Given the description of an element on the screen output the (x, y) to click on. 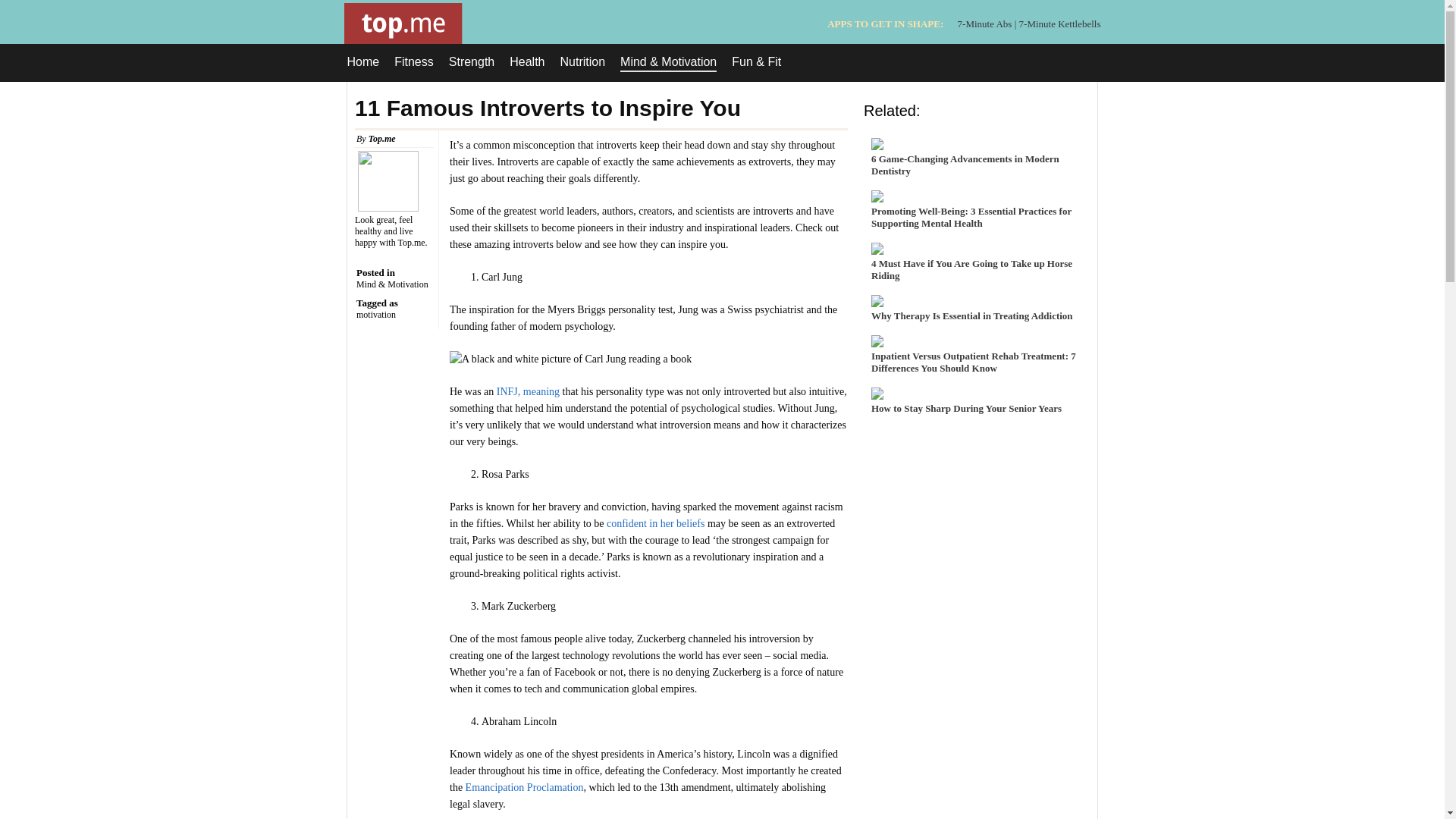
Strength (471, 61)
Carl Jung - Swiss psychiatrist, reading a book in his study (570, 359)
confident in her beliefs (655, 523)
6 Game-Changing Advancements in Modern Dentistry (976, 158)
4 Must Have if You Are Going to Take up Horse Riding (976, 263)
7-Minute Abs (984, 23)
View all posts by Top.me (382, 138)
How to Stay Sharp During Your Senior Years (976, 402)
Home (363, 61)
